Given the description of an element on the screen output the (x, y) to click on. 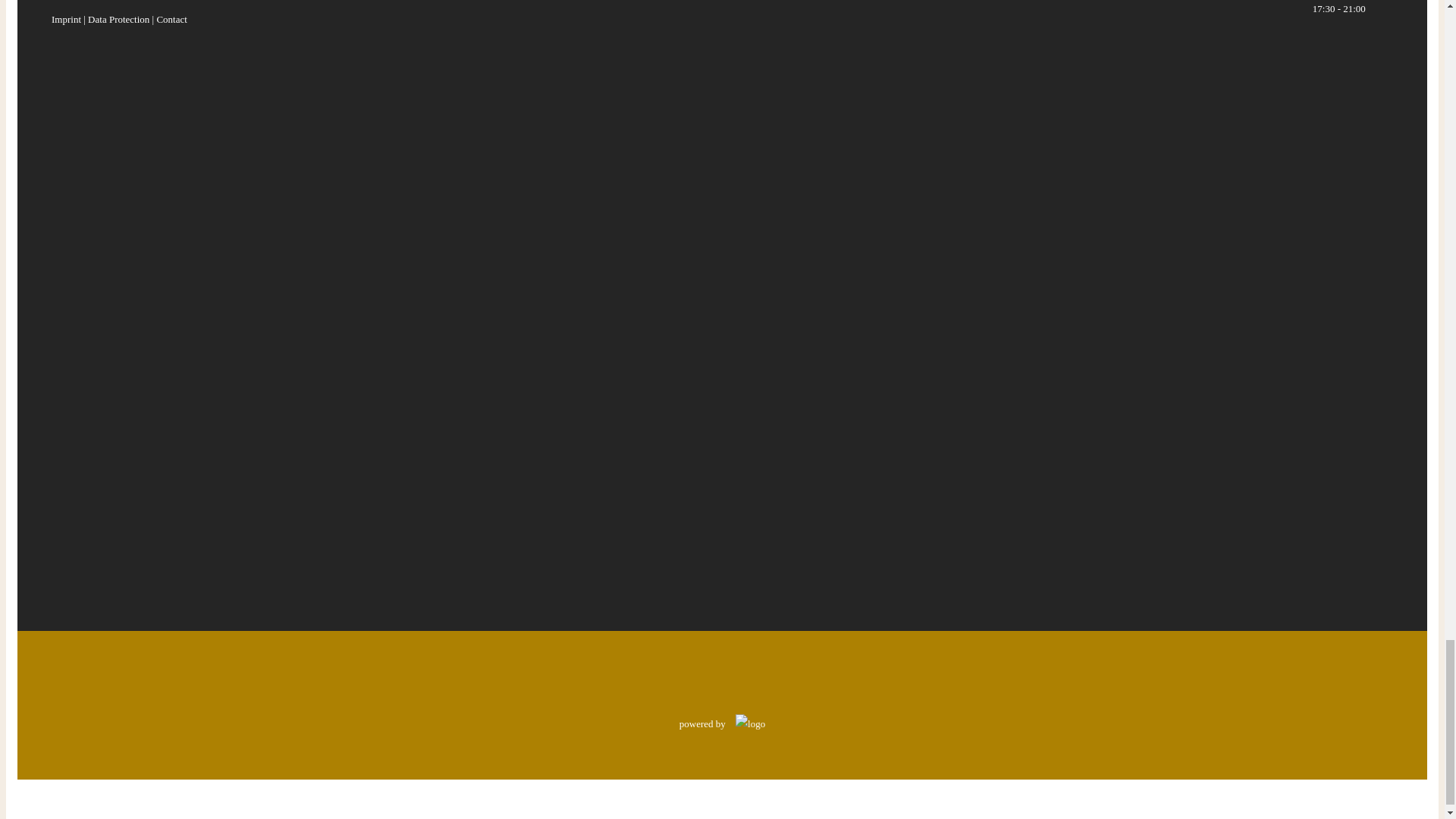
Contact (170, 19)
powered by (722, 723)
Data Protection (118, 19)
Imprint (65, 19)
